Given the description of an element on the screen output the (x, y) to click on. 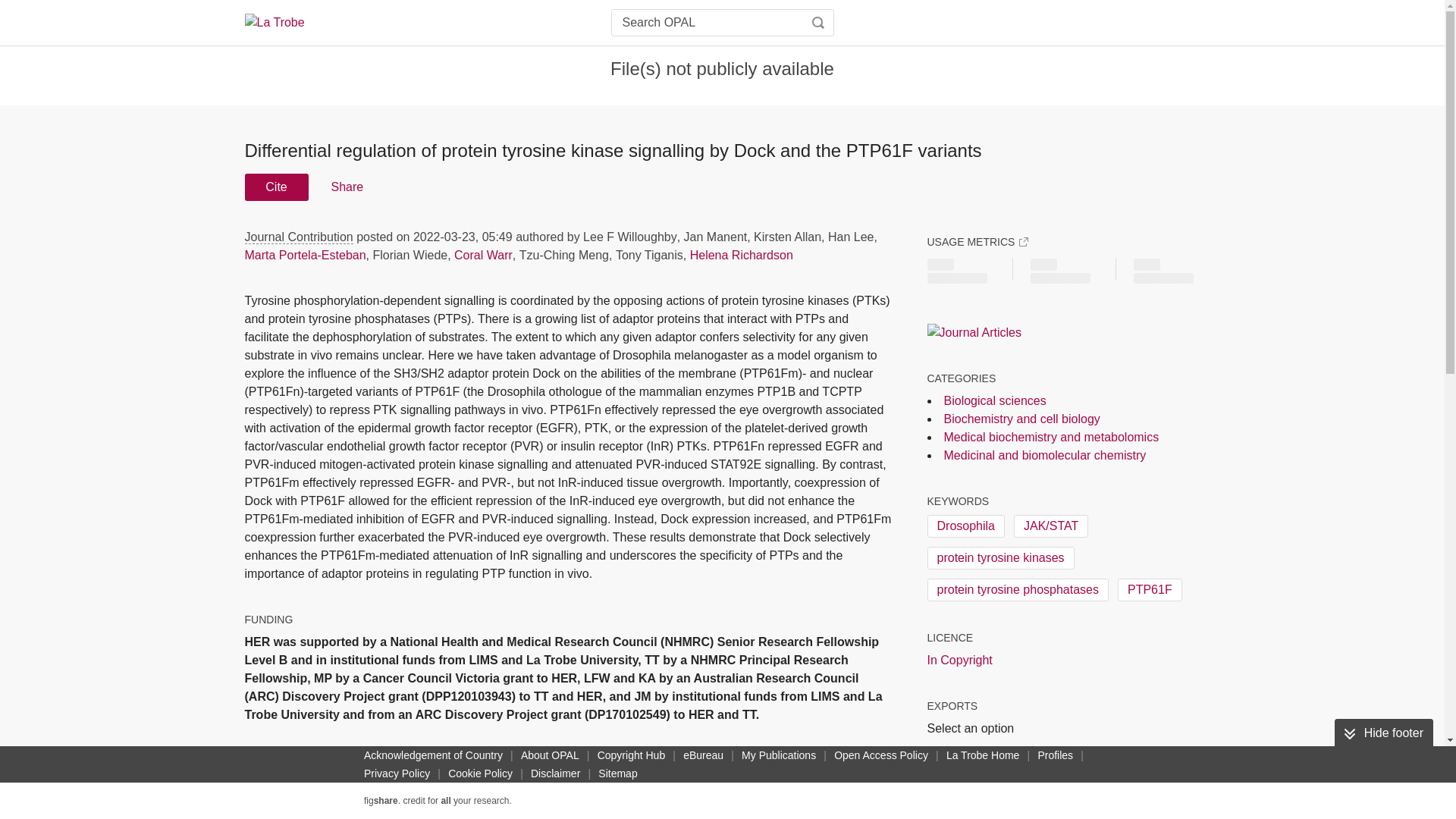
Drosophila (965, 526)
Biochemistry and cell biology (1021, 418)
eBureau (703, 755)
Medicinal and biomolecular chemistry (1044, 454)
Biological sciences (994, 400)
About OPAL (549, 755)
Privacy Policy (396, 773)
Acknowledgement of Country (432, 755)
USAGE METRICS (976, 241)
Cookie Policy (480, 773)
Helena Richardson (741, 254)
Profiles (1054, 755)
PTP61F (1150, 589)
Cite (275, 186)
Coral Warr (483, 254)
